Given the description of an element on the screen output the (x, y) to click on. 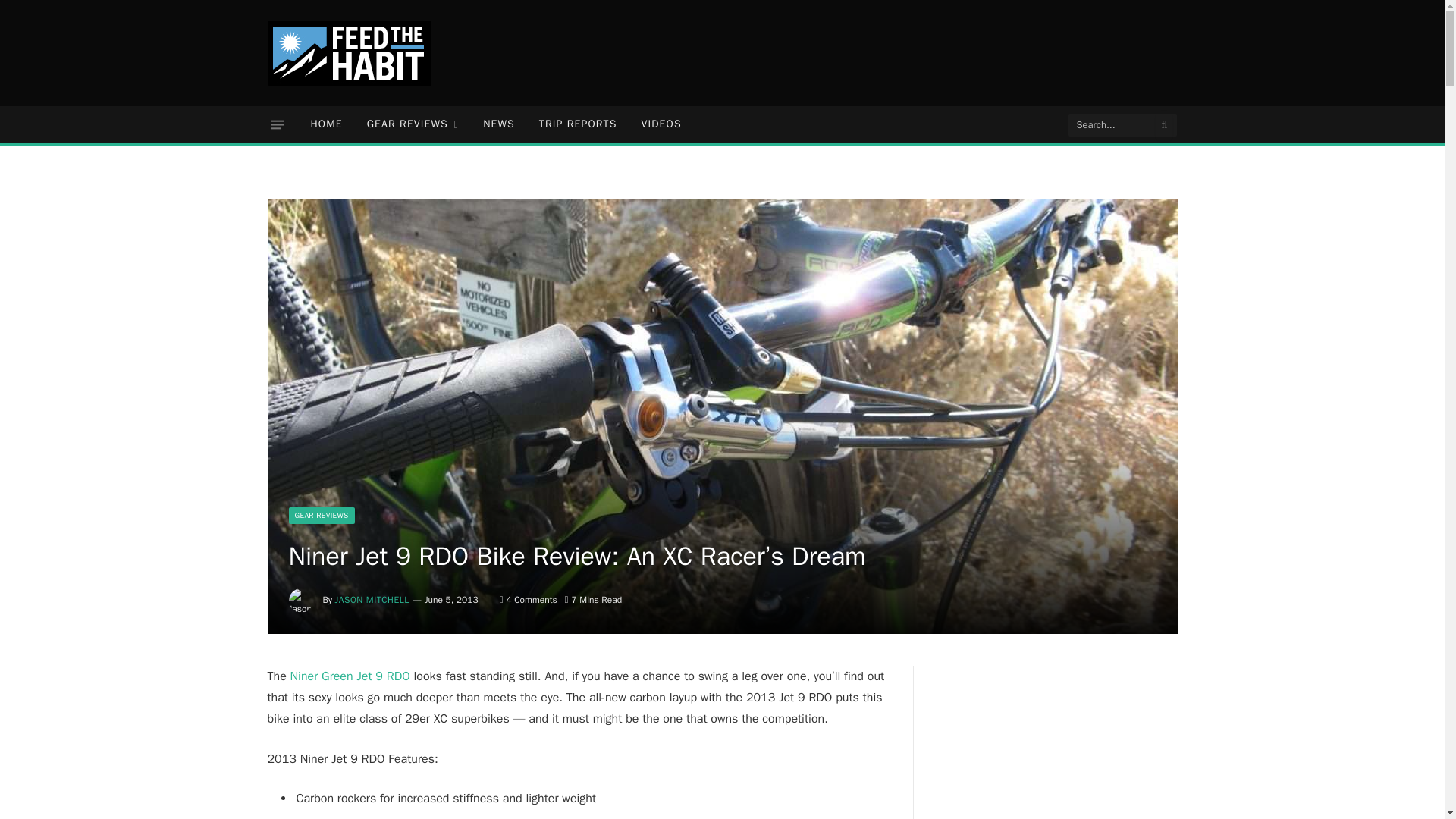
NEWS (498, 124)
GEAR REVIEWS (412, 124)
JASON MITCHELL (371, 599)
FeedTheHabit.com (347, 53)
Posts by Jason Mitchell (371, 599)
TRIP REPORTS (577, 124)
VIDEOS (661, 124)
Niner Green Jet 9 RDO (349, 676)
4 Comments (528, 599)
HOME (326, 124)
GEAR REVIEWS (320, 515)
Advertisement (901, 50)
